Given the description of an element on the screen output the (x, y) to click on. 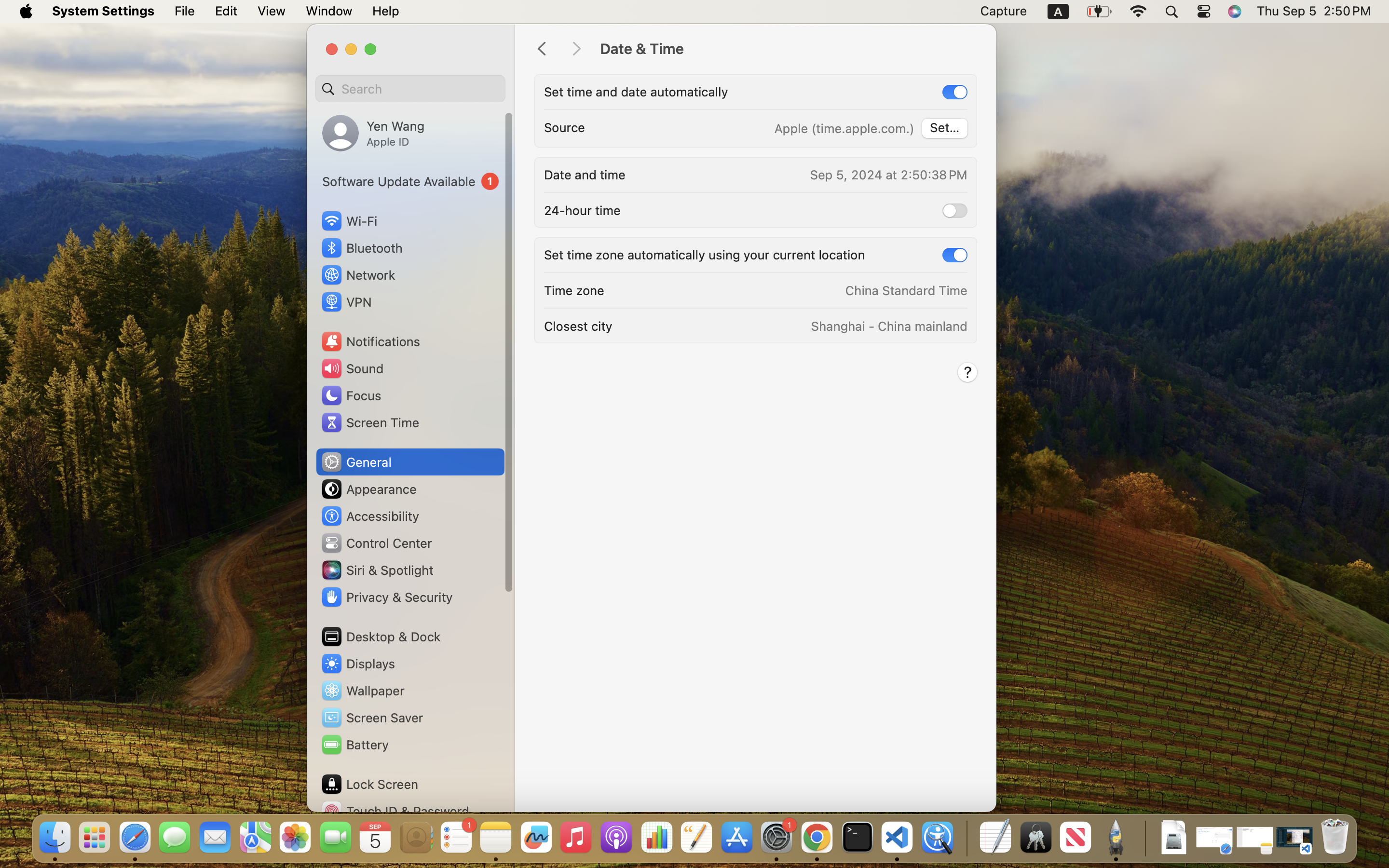
Privacy & Security Element type: AXStaticText (386, 596)
Accessibility Element type: AXStaticText (369, 515)
0.4285714328289032 Element type: AXDockItem (965, 837)
Sep 5, 2024 at 2:50:38 PM Element type: AXStaticText (887, 174)
